Given the description of an element on the screen output the (x, y) to click on. 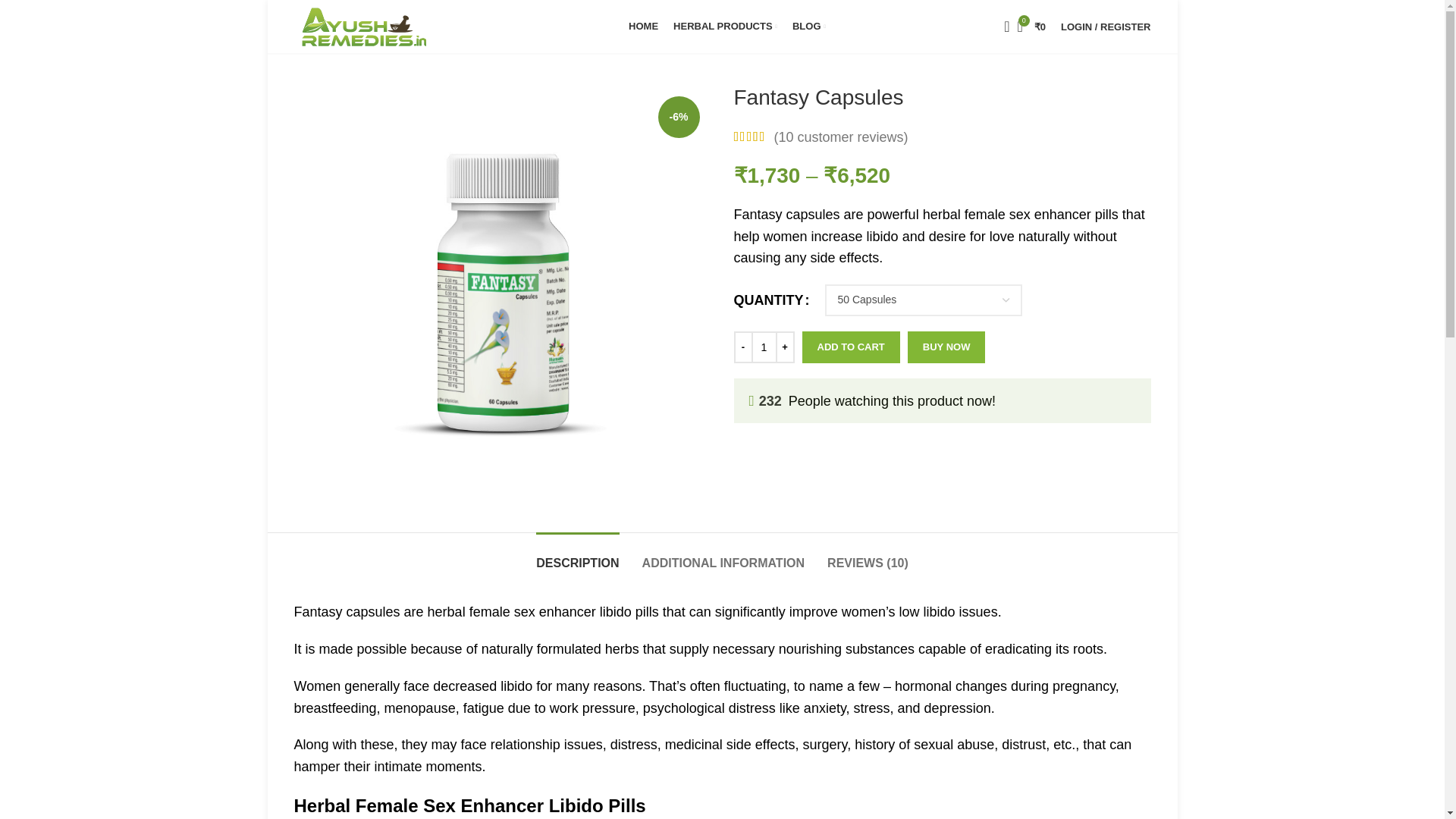
HERBAL PRODUCTS (724, 26)
My account (1104, 26)
HOME (643, 26)
Shopping cart (1030, 26)
